Given the description of an element on the screen output the (x, y) to click on. 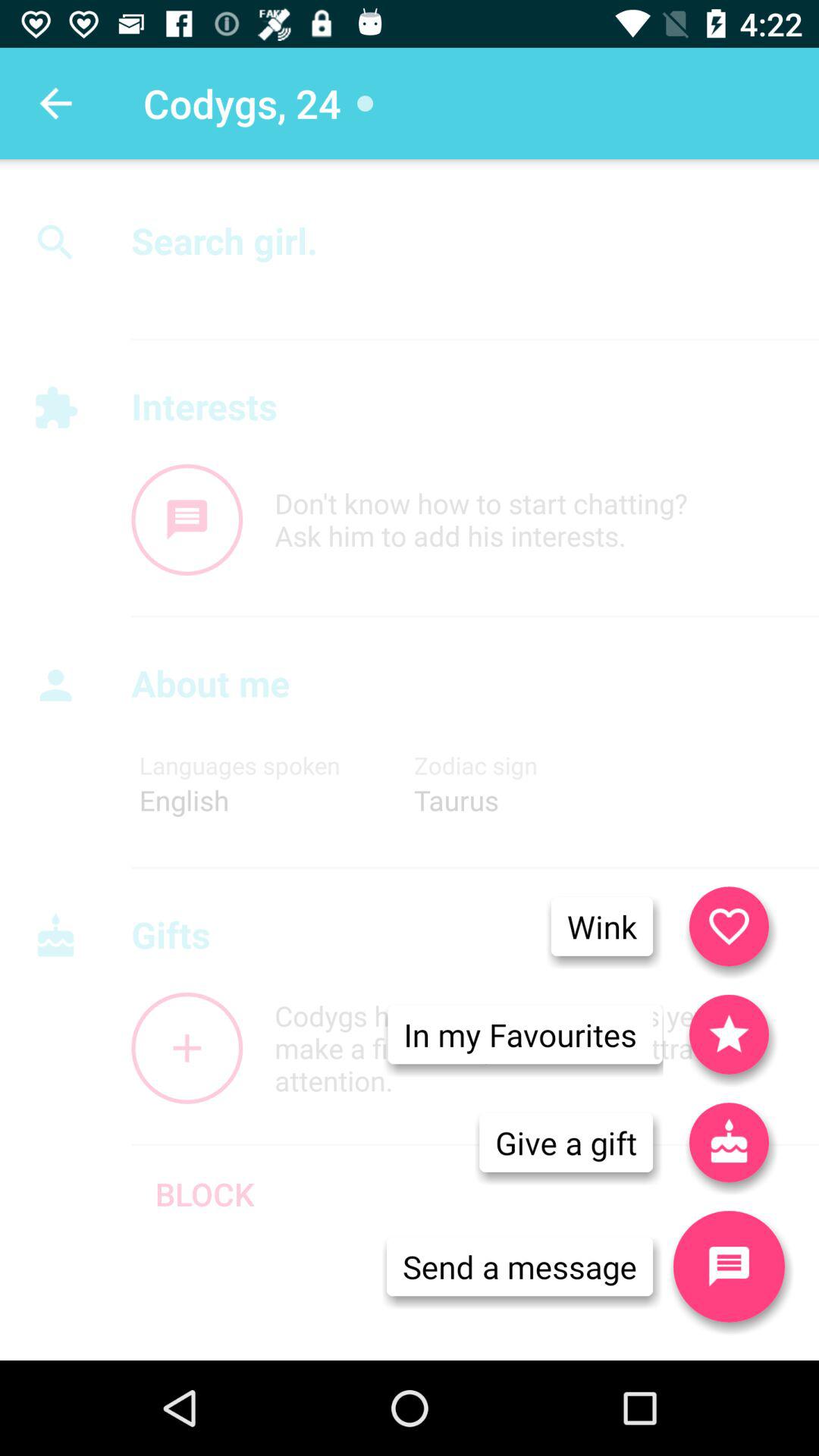
scroll until the give a gift icon (566, 1142)
